Given the description of an element on the screen output the (x, y) to click on. 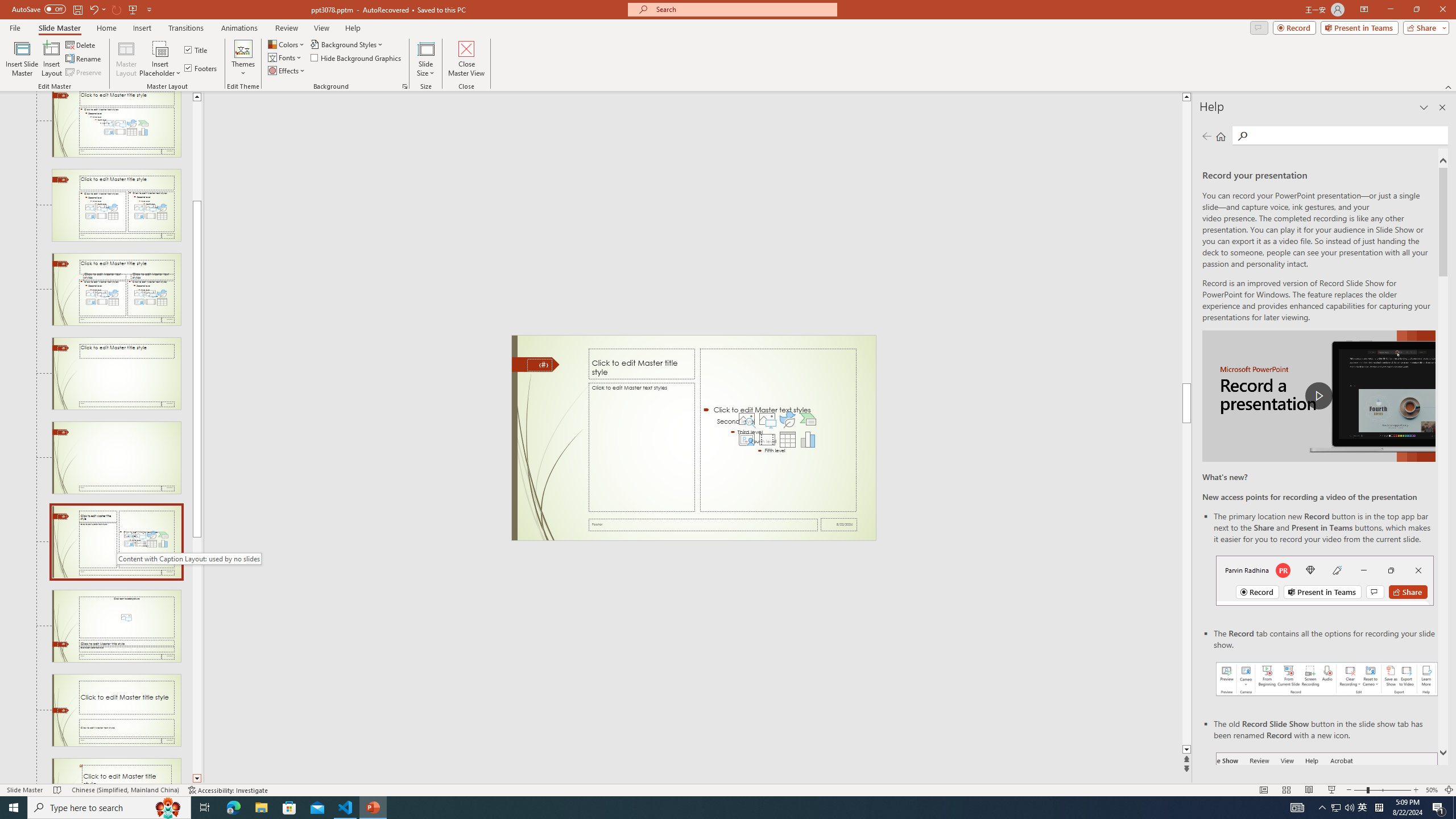
Close Master View (466, 58)
Stock Images (746, 419)
Insert Placeholder (160, 58)
Content (160, 48)
Preserve (84, 72)
Slide Master (59, 28)
